Given the description of an element on the screen output the (x, y) to click on. 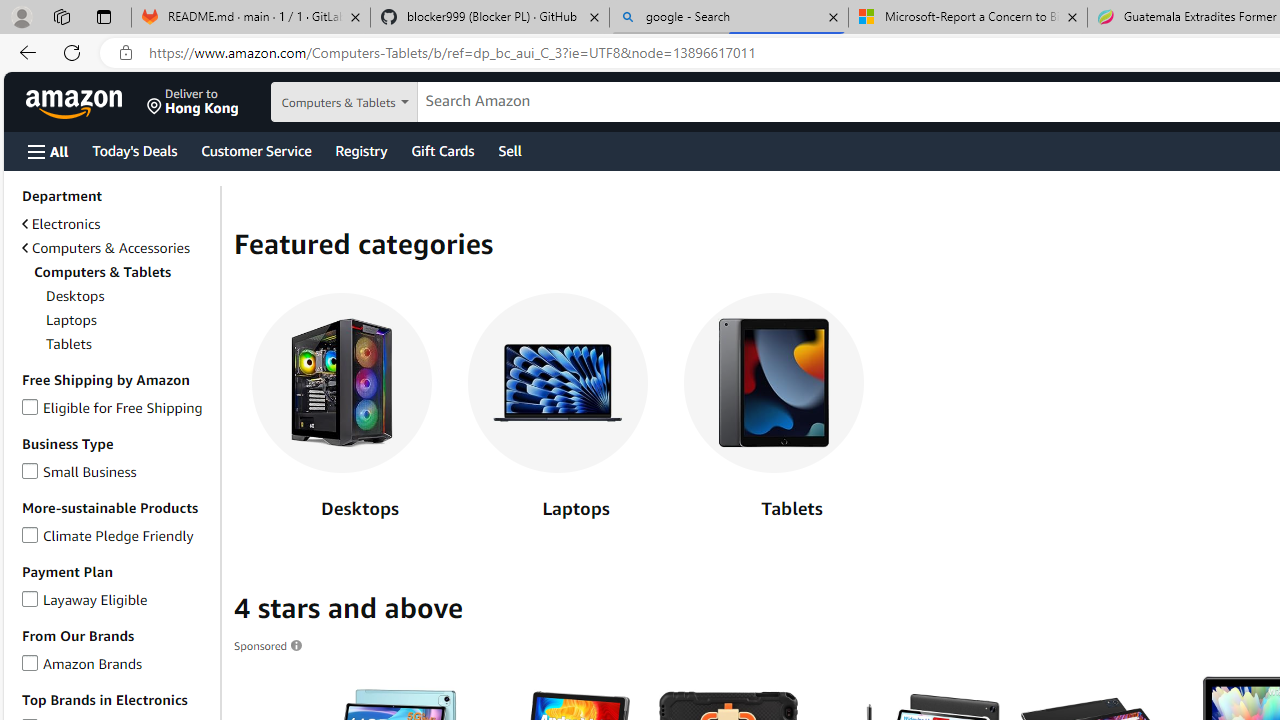
Computers & Accessories (105, 248)
Layaway Eligible Layaway Eligible (84, 598)
Desktops (342, 383)
Amazon Brands (29, 660)
Electronics (117, 223)
Deliver to Hong Kong (193, 101)
Climate Pledge FriendlyClimate Pledge Friendly (117, 535)
Open Menu (48, 151)
Amazon BrandsAmazon Brands (117, 663)
Computers & Accessories (117, 247)
